Given the description of an element on the screen output the (x, y) to click on. 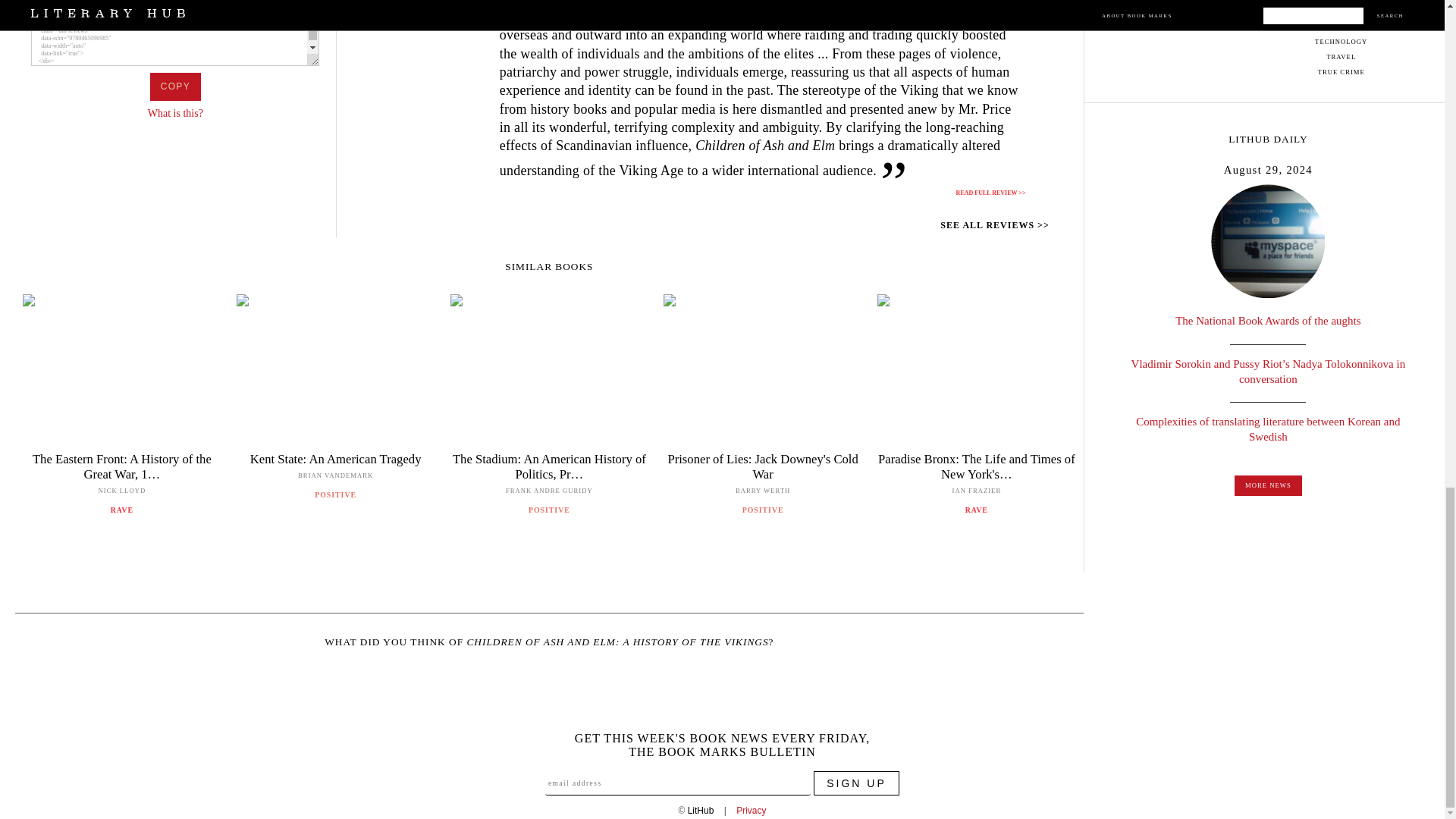
Sign Up (856, 783)
Copy (174, 86)
What is this? (175, 112)
